Given the description of an element on the screen output the (x, y) to click on. 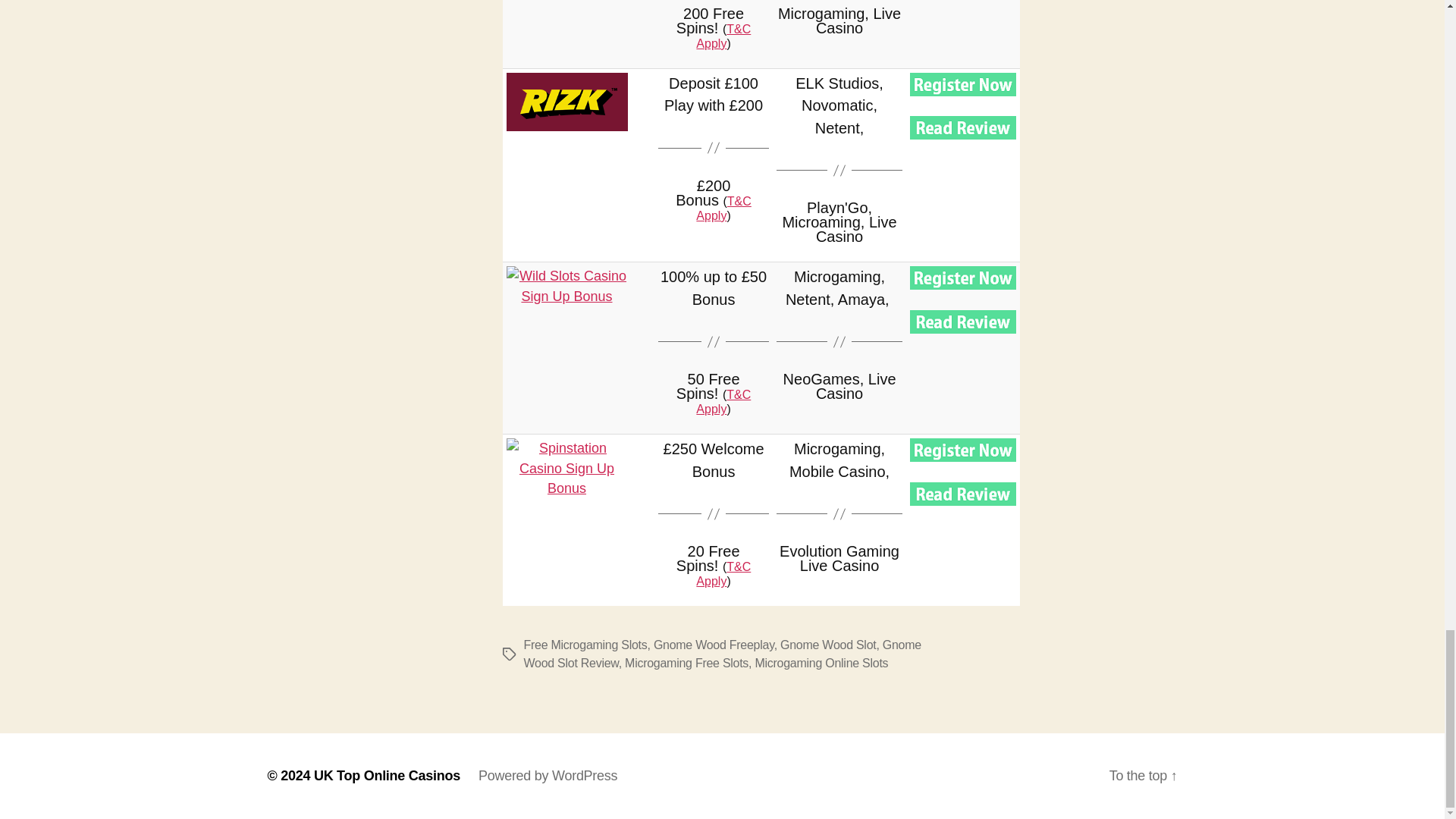
Go to Rizk Casino (566, 101)
Go to Spinstation (566, 468)
Go to Spinstation (963, 449)
Go to Wild Slots (566, 296)
Wild Slots Casino Review (963, 321)
Go to Wild Slots (963, 277)
Spinstation Casino Review (963, 494)
Go to Rizk Casino (963, 84)
Slot Boss Casino Review (963, 127)
